Given the description of an element on the screen output the (x, y) to click on. 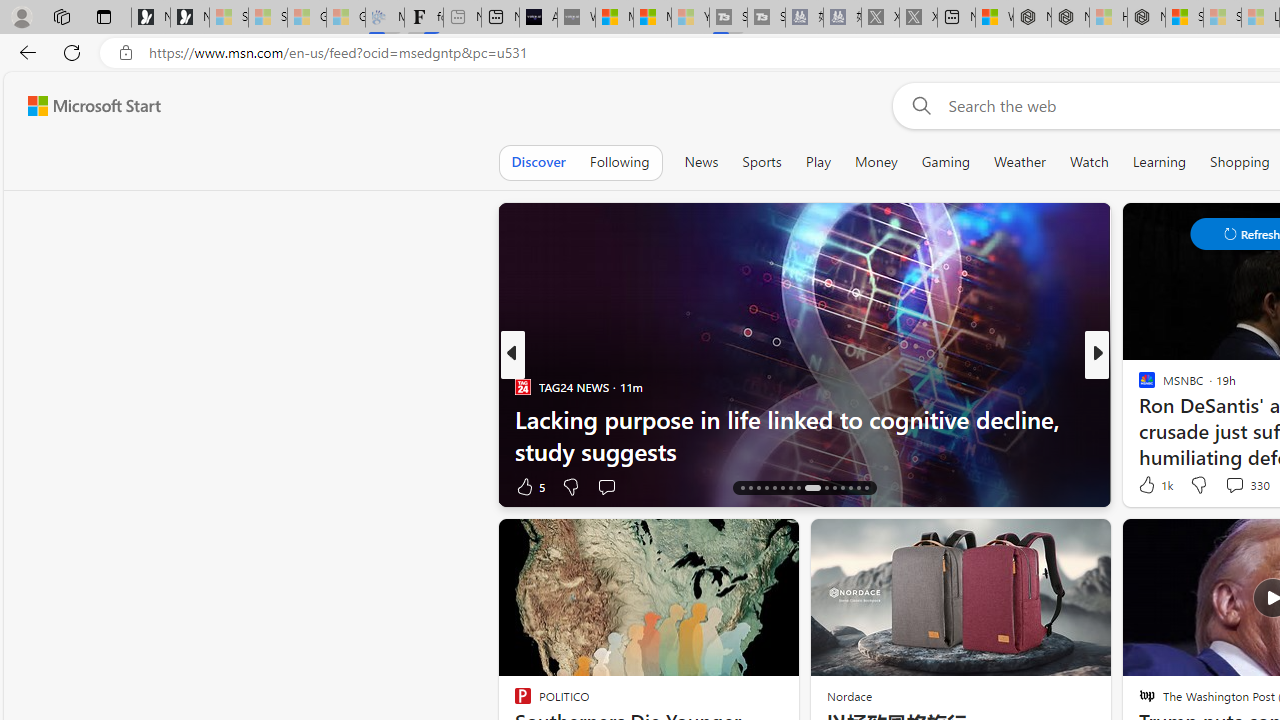
497 Like (1151, 486)
AutomationID: tab-21 (782, 487)
Comments turned off for this story (1222, 485)
View comments 1 Comment (1229, 485)
AutomationID: tab-18 (757, 487)
View comments 330 Comment (1246, 484)
Comments turned off for this story (1222, 486)
View comments 266 Comment (1247, 486)
91 Like (1149, 486)
View comments 33 Comment (1229, 485)
